Given the description of an element on the screen output the (x, y) to click on. 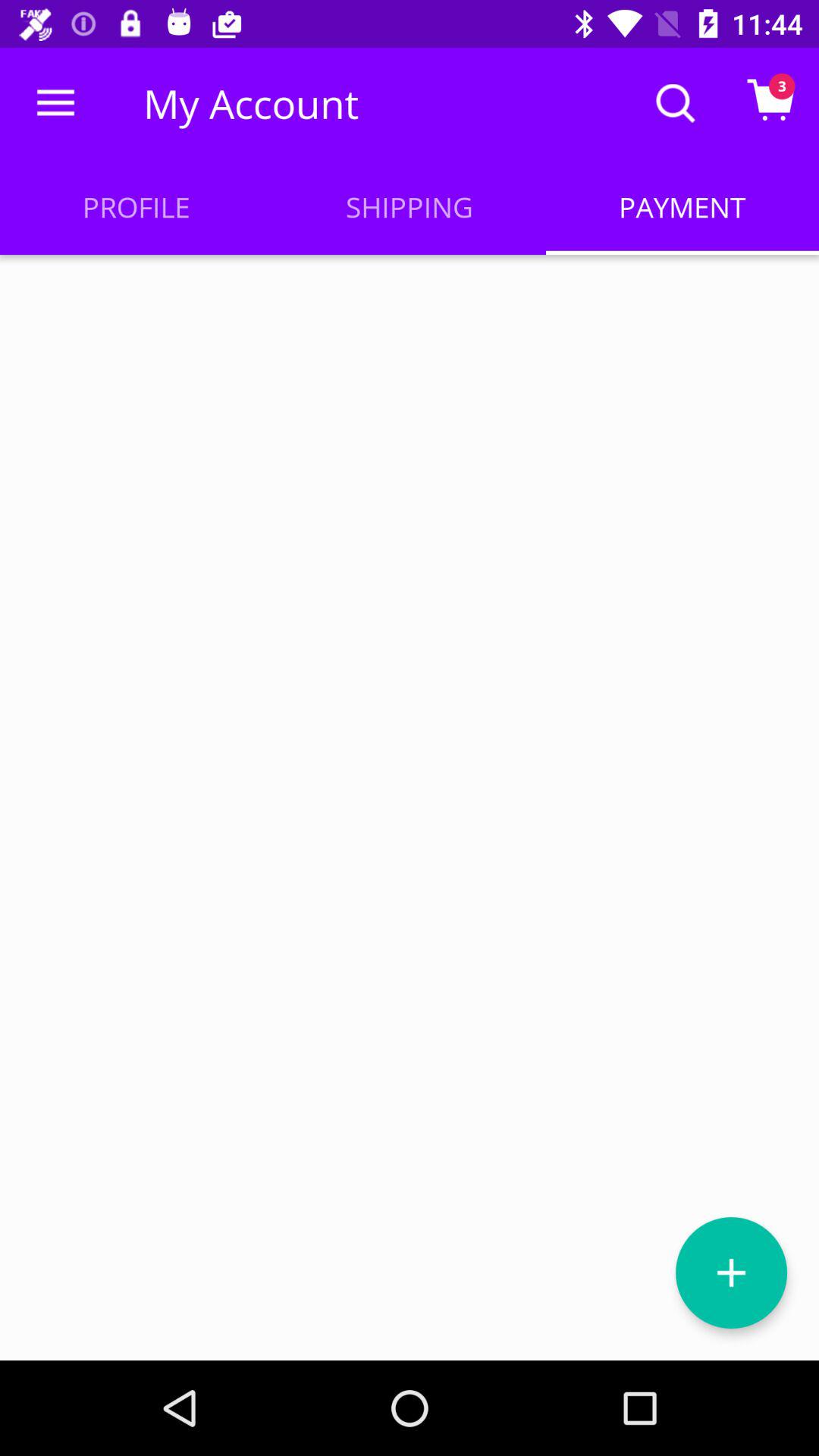
turn off icon at the bottom right corner (731, 1272)
